Given the description of an element on the screen output the (x, y) to click on. 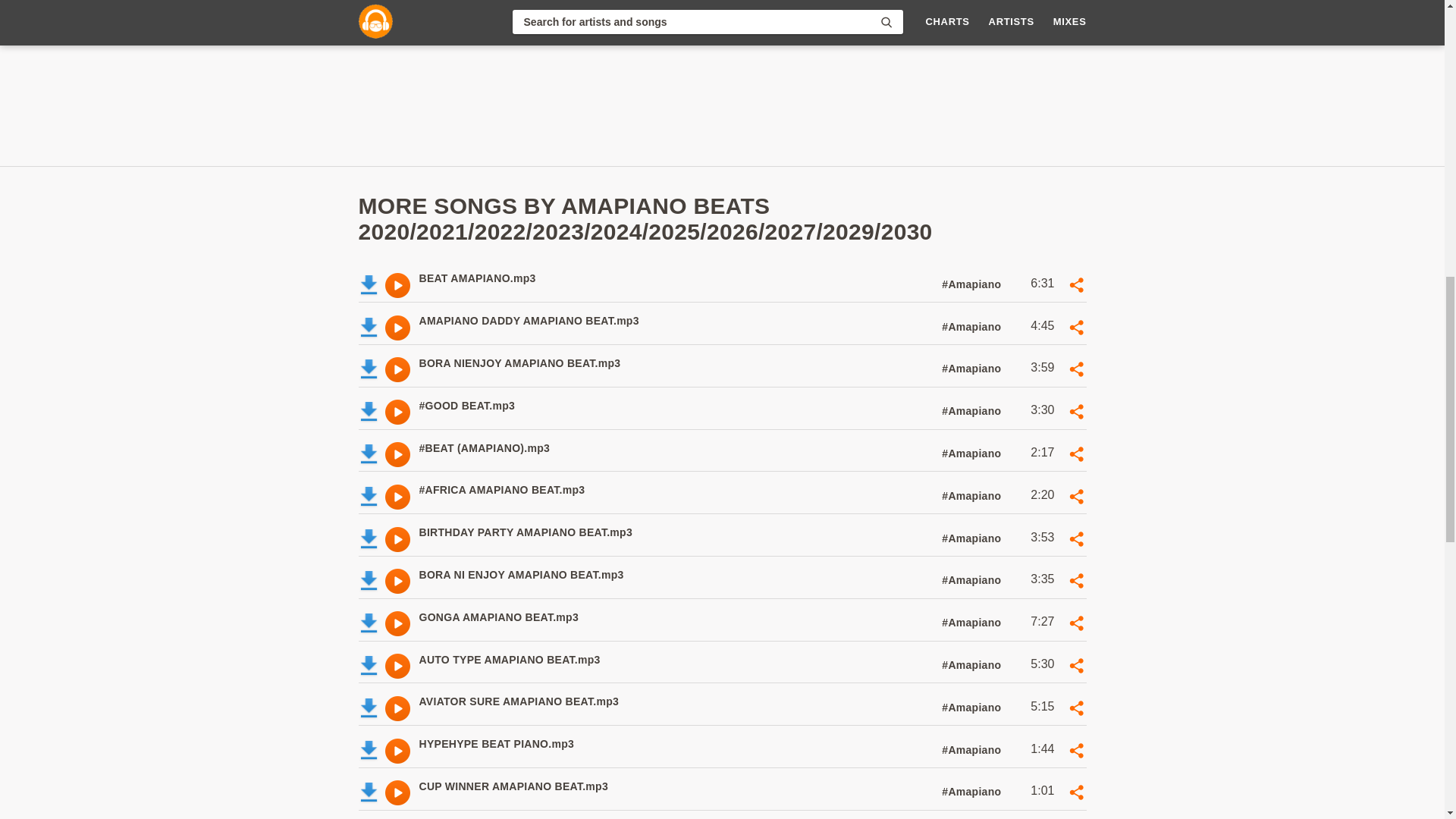
Advertisement (655, 369)
